Given the description of an element on the screen output the (x, y) to click on. 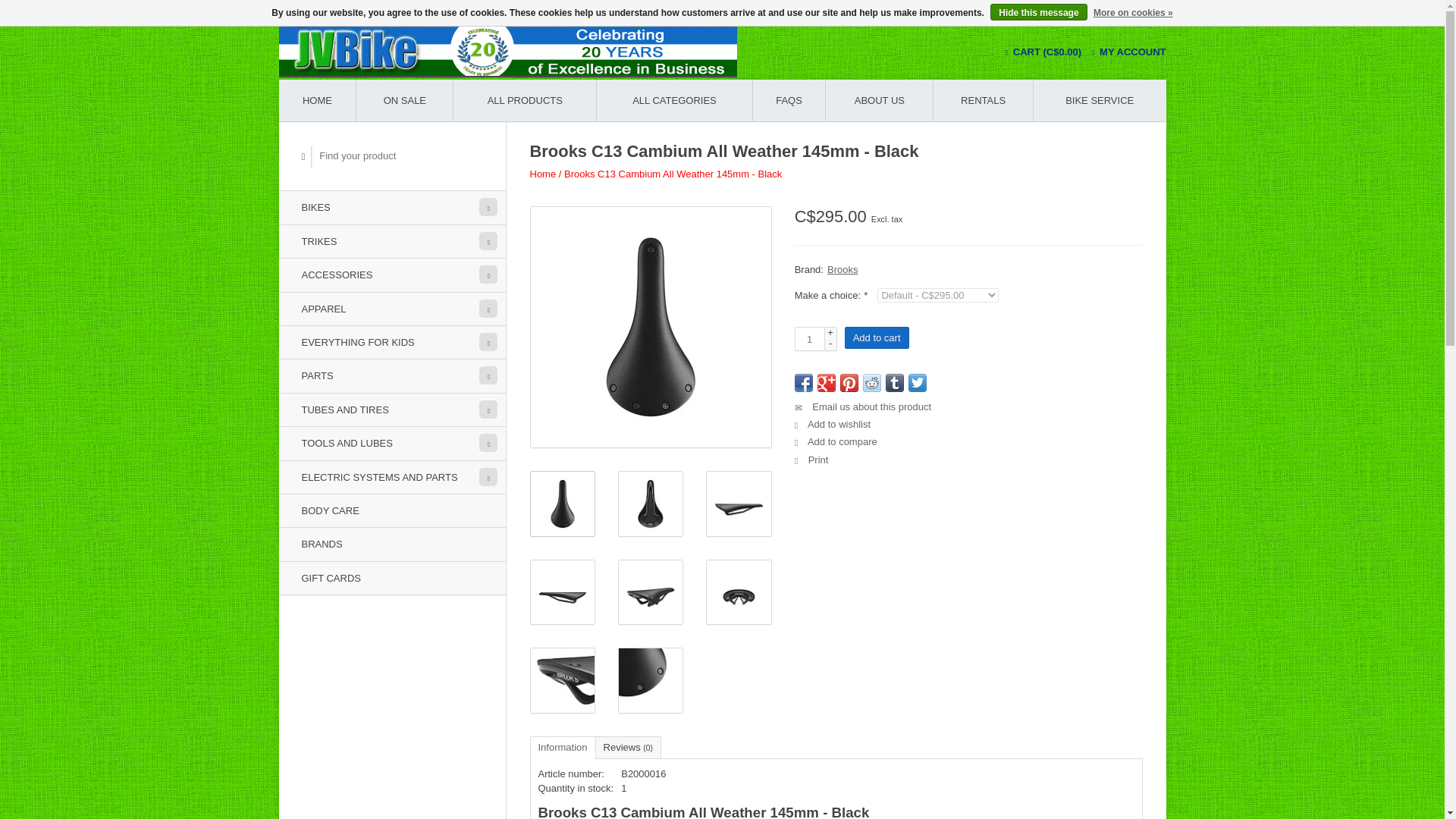
ABOUT US (879, 100)
Accessories (392, 274)
FAQs (788, 100)
About us (879, 100)
Bikes (392, 207)
BIKES (392, 207)
BIKE SERVICE (1099, 100)
ALL PRODUCTS (523, 100)
RENTALS (982, 100)
